Given the description of an element on the screen output the (x, y) to click on. 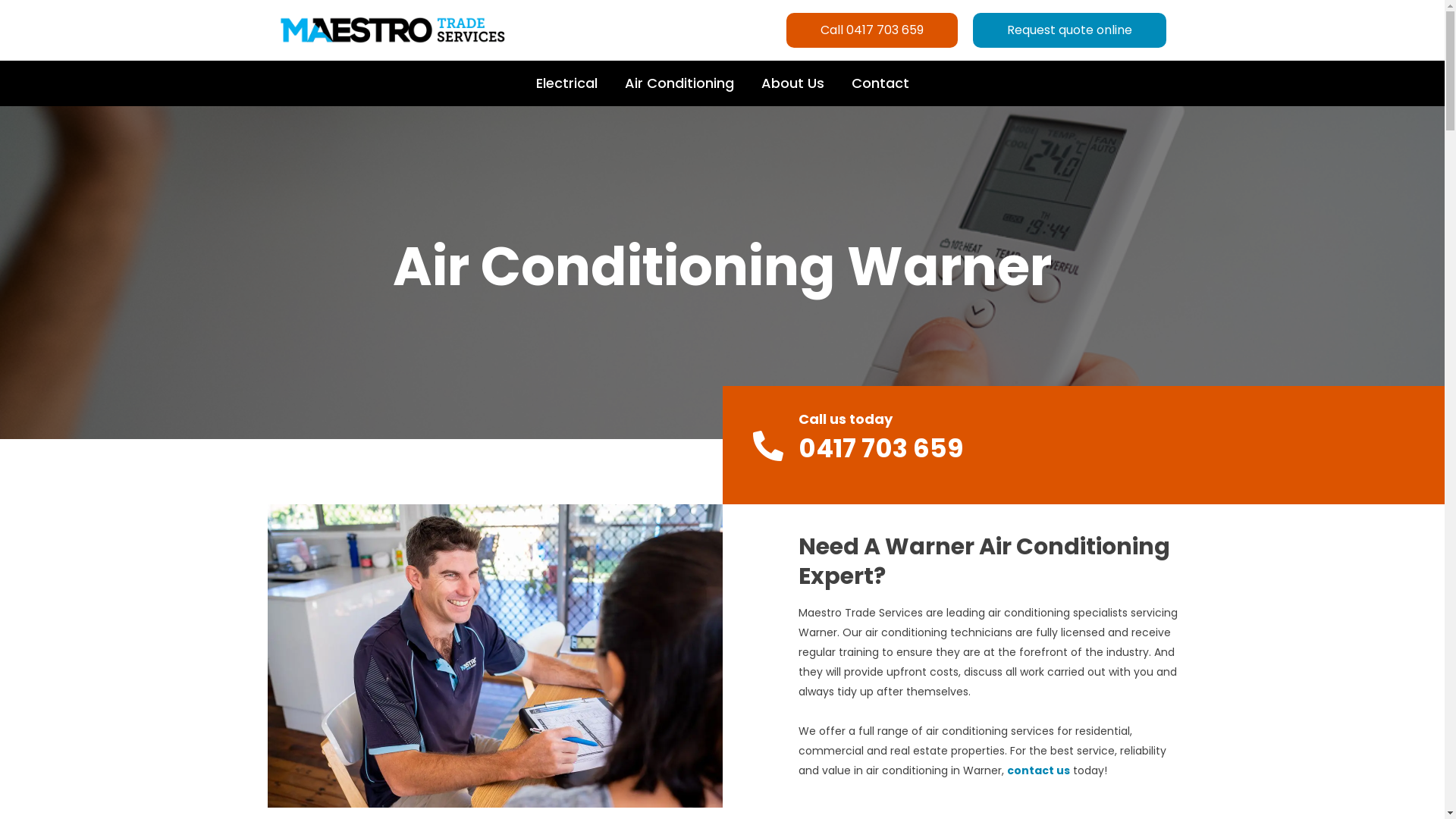
Request quote online Element type: text (1068, 29)
Contact Element type: text (879, 83)
contact us Element type: text (1038, 770)
Call 0417 703 659 Element type: text (871, 29)
Air Conditioning Element type: text (679, 83)
Electrician_Air_Conditioner_Tech_Customer Element type: hover (493, 655)
Electrical Element type: text (565, 83)
About Us Element type: text (792, 83)
